Given the description of an element on the screen output the (x, y) to click on. 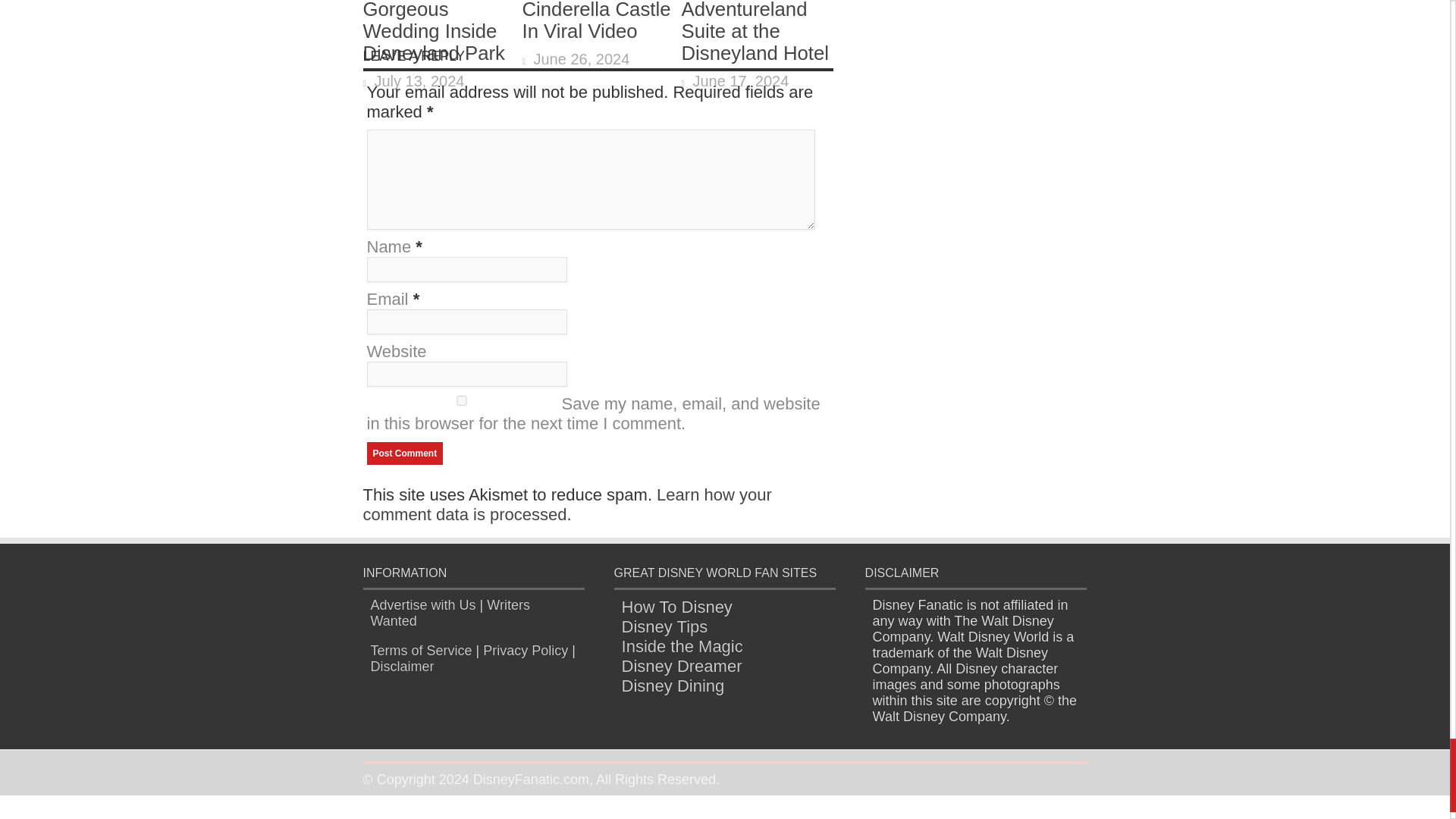
Post Comment (405, 453)
yes (461, 400)
